Given the description of an element on the screen output the (x, y) to click on. 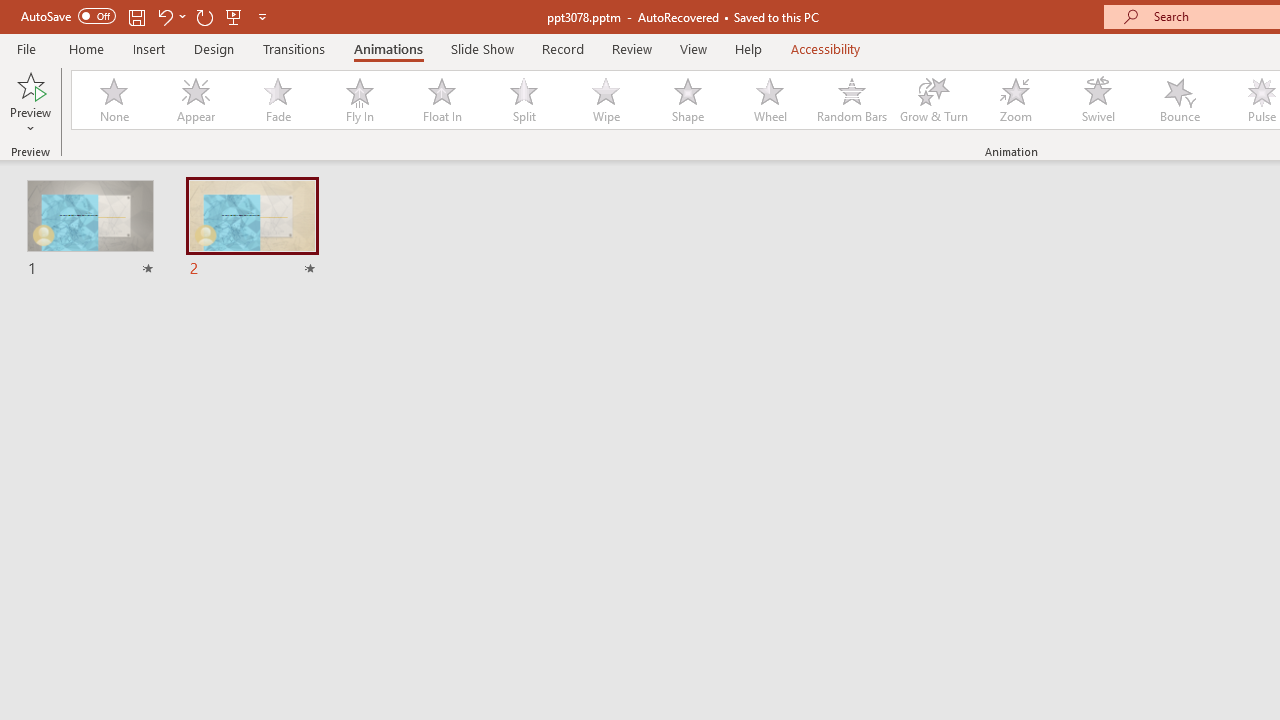
Fly In (359, 100)
Appear (195, 100)
Fade (277, 100)
Shape (687, 100)
